Given the description of an element on the screen output the (x, y) to click on. 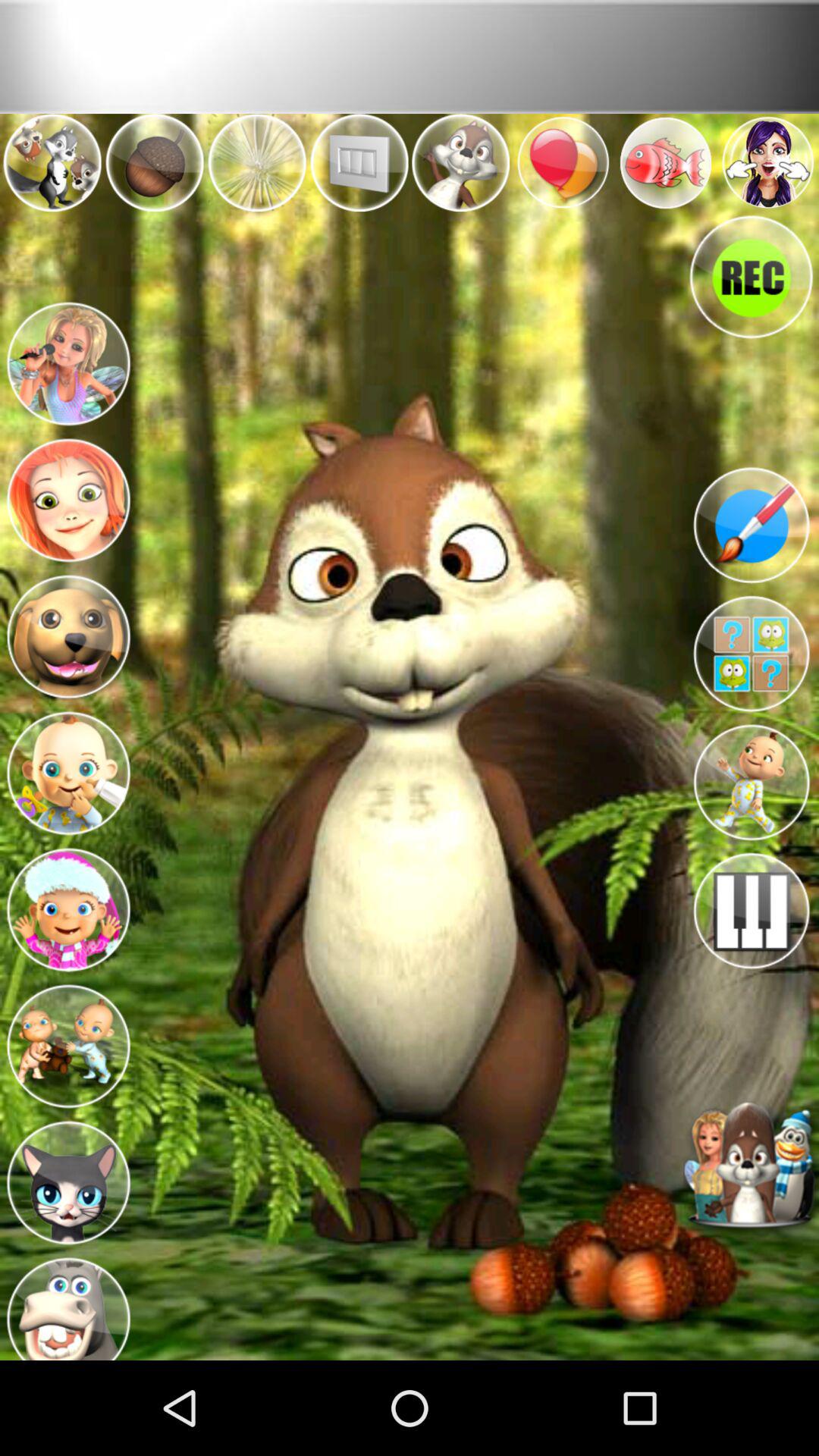
edit paintbrush (751, 525)
